Given the description of an element on the screen output the (x, y) to click on. 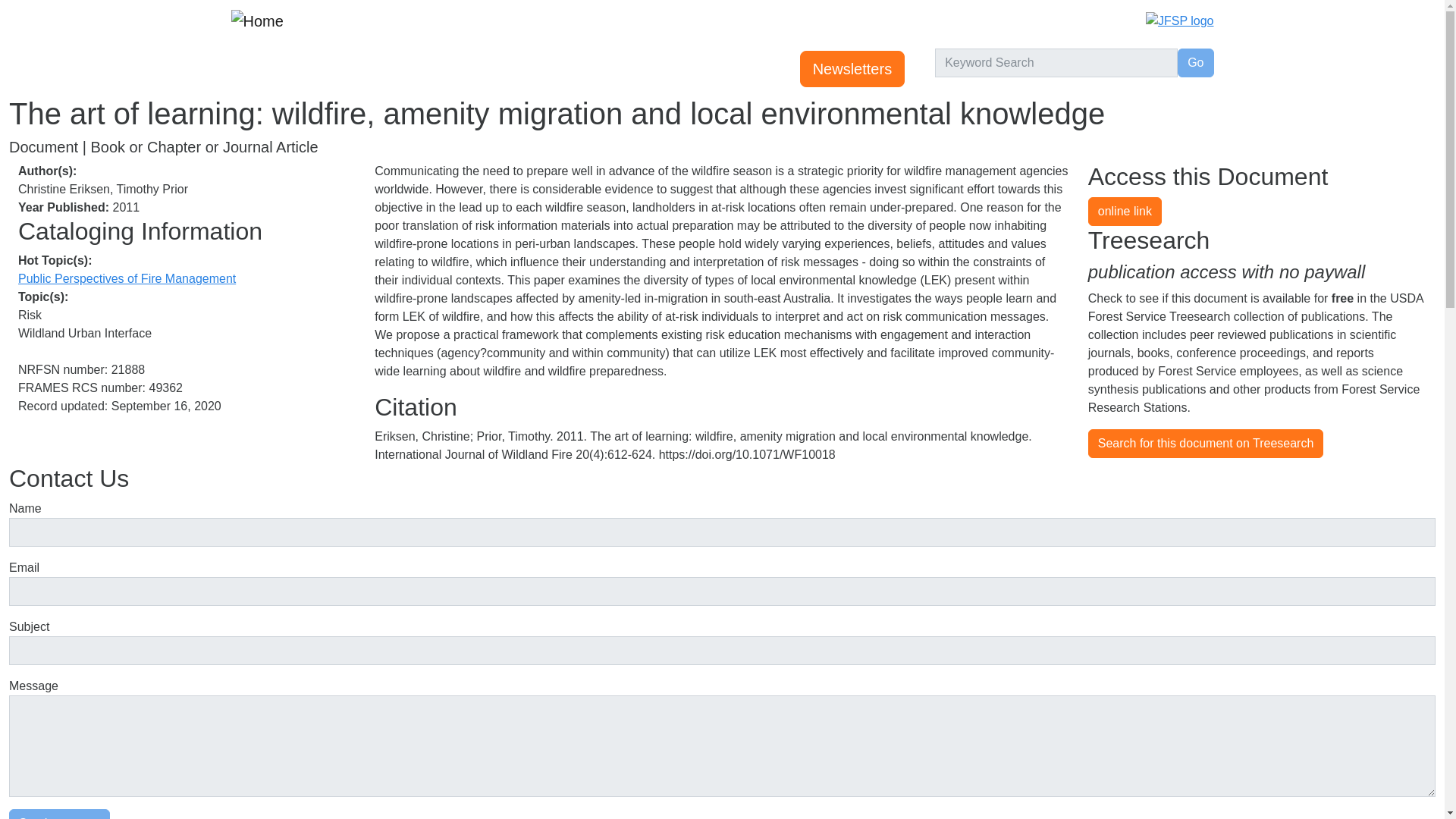
Hot Topics (501, 69)
Home (252, 69)
Home (262, 20)
Events (304, 69)
Our Products (585, 69)
About Us (668, 69)
Research Database (398, 69)
